Given the description of an element on the screen output the (x, y) to click on. 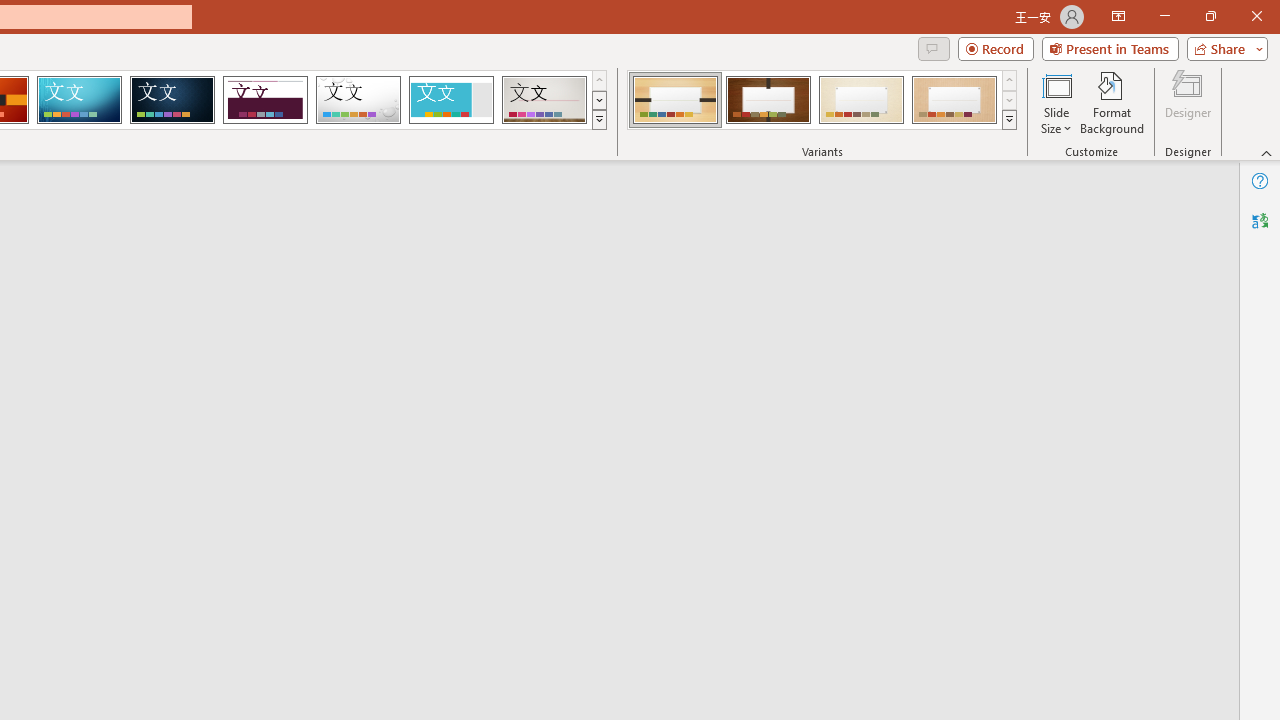
Organic Variant 2 (768, 100)
Damask (171, 100)
Organic Variant 4 (953, 100)
Frame (450, 100)
AutomationID: ThemeVariantsGallery (822, 99)
